Given the description of an element on the screen output the (x, y) to click on. 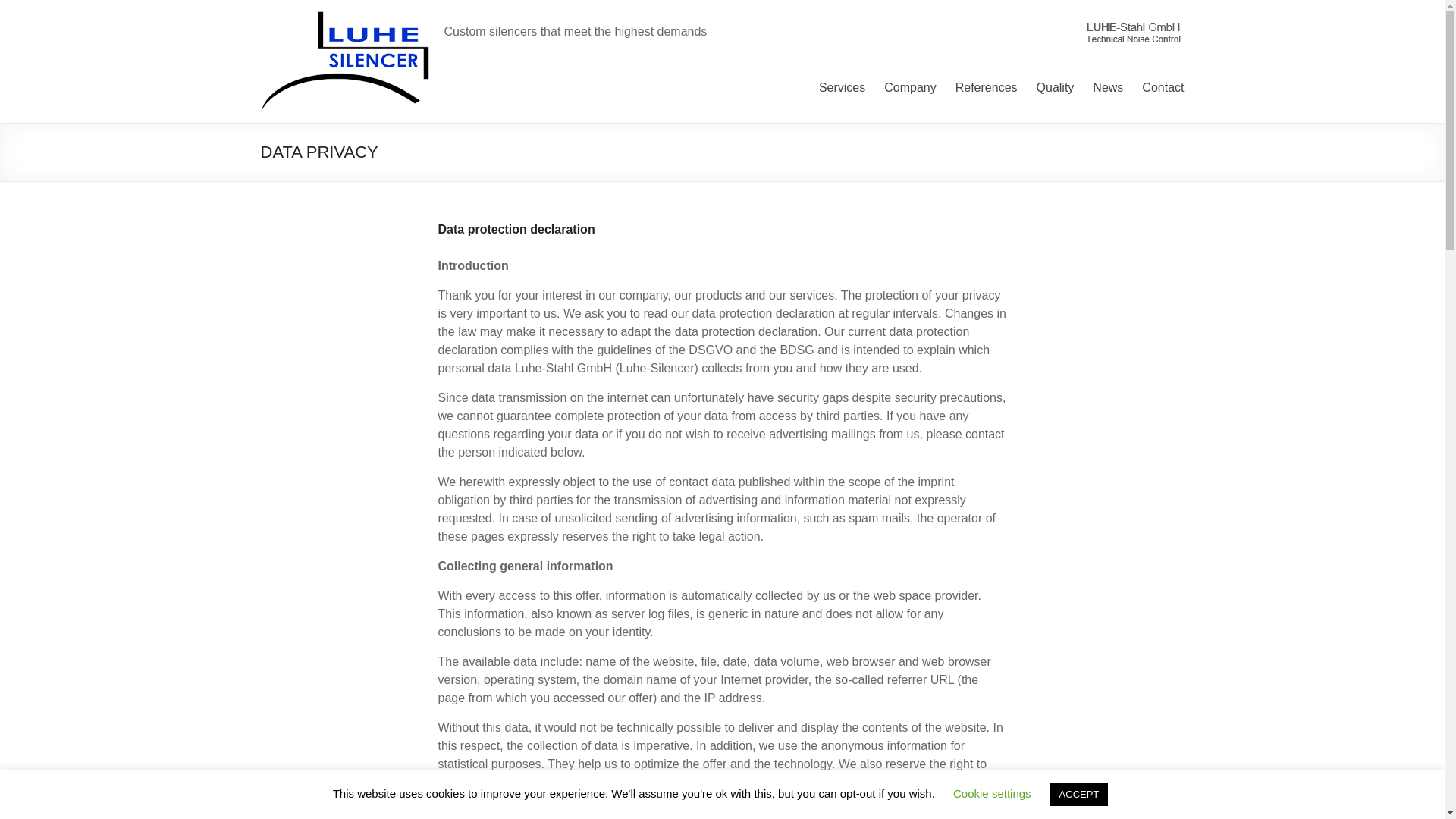
ACCEPT (1078, 793)
Cookie settings (991, 793)
Company (909, 87)
Quality (1055, 87)
News (1107, 87)
References (986, 87)
Contact (1162, 87)
Services (841, 87)
